Given the description of an element on the screen output the (x, y) to click on. 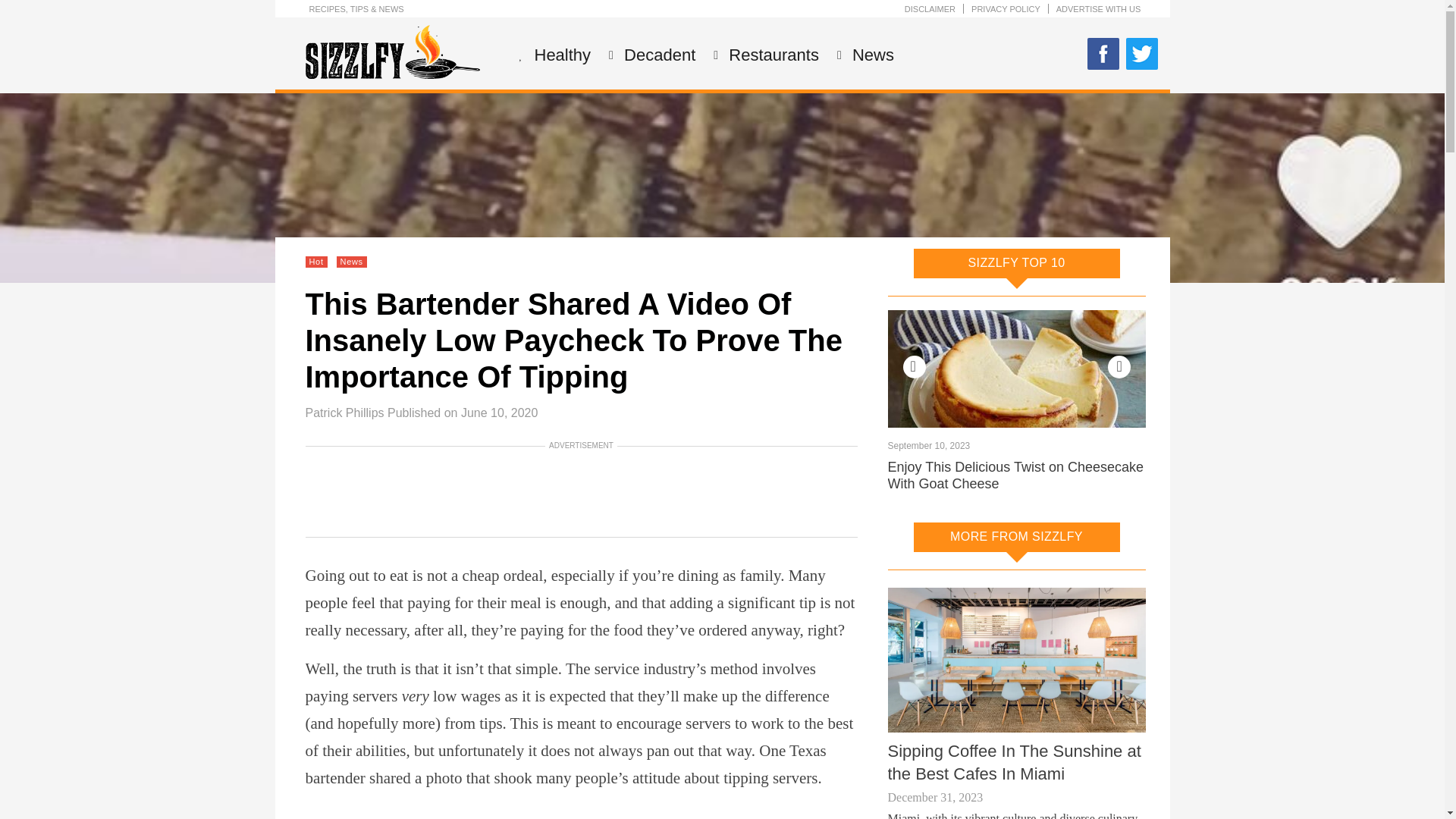
News (351, 261)
PRIVACY POLICY (1006, 8)
ADVERTISE WITH US (1099, 8)
News (870, 55)
Patrick Phillips (344, 412)
Hot (315, 261)
Sizzlfy (391, 74)
Healthy (561, 55)
DISCLAIMER (929, 8)
Restaurants (771, 55)
Decadent (657, 55)
